Given the description of an element on the screen output the (x, y) to click on. 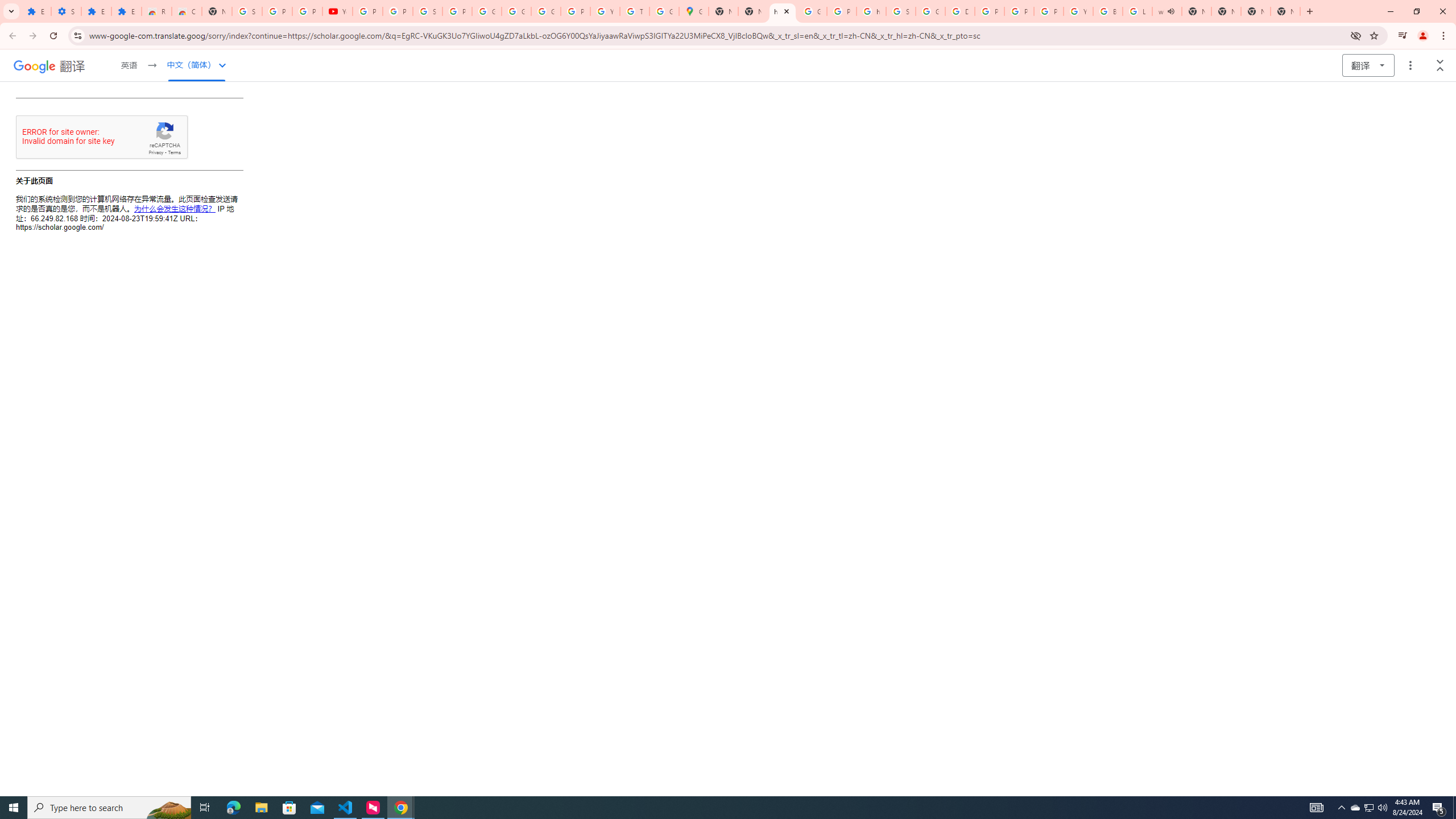
Extensions (36, 11)
Google Account (486, 11)
Privacy Help Center - Policies Help (1018, 11)
New Tab (1284, 11)
